Given the description of an element on the screen output the (x, y) to click on. 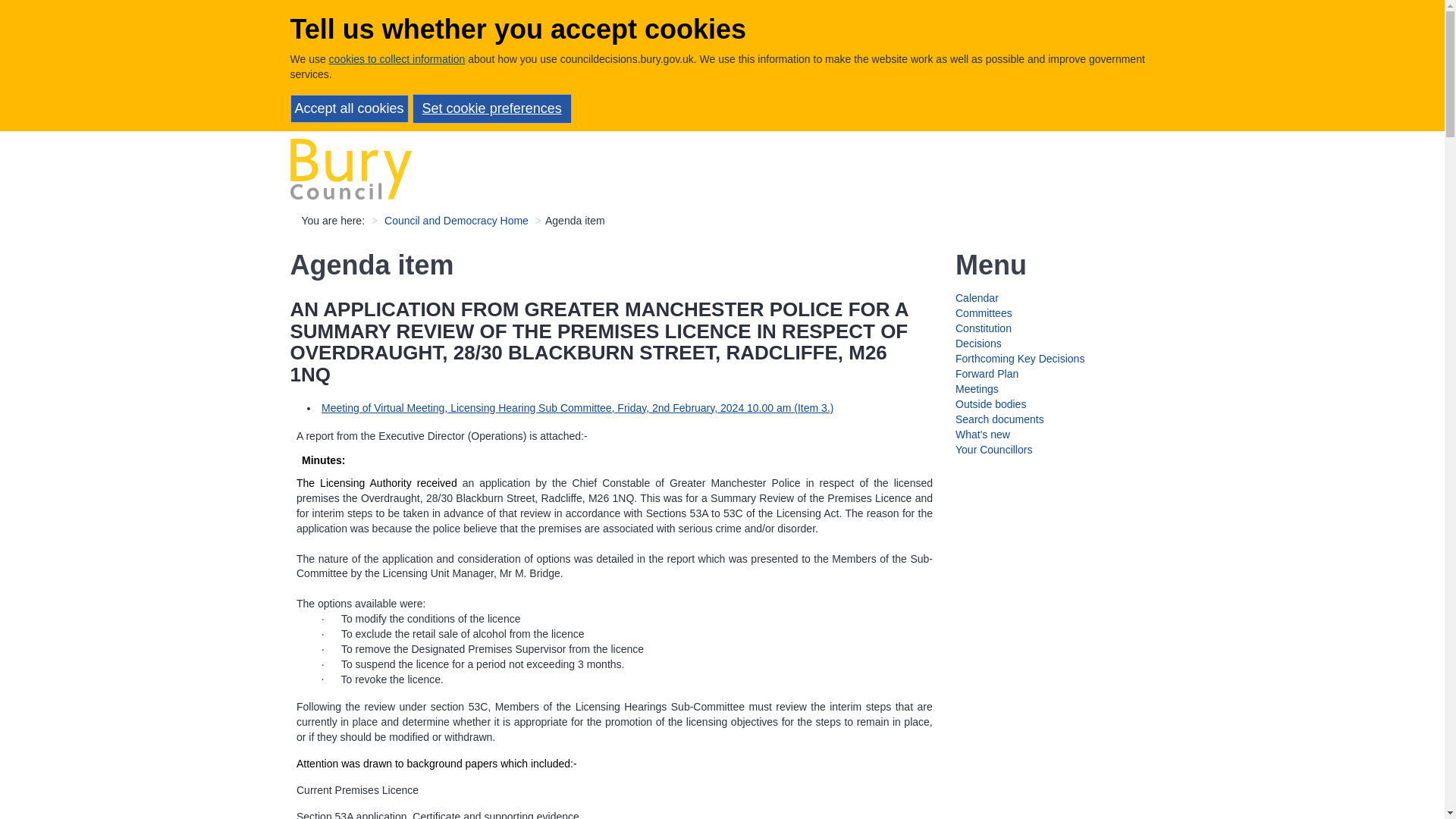
Committees (983, 313)
Outside bodies (990, 404)
Search documents (999, 419)
Meetings (976, 388)
Calendar (976, 297)
Forthcoming Key Decisions (1019, 358)
Constitution (983, 328)
Accept all cookies (348, 109)
Forward Plan (986, 373)
Link to calendar of meetings (976, 297)
Link to meeting containing this item (576, 408)
Your Councillors (993, 449)
cookies to collect information (397, 59)
What's new (982, 434)
Home (349, 168)
